Given the description of an element on the screen output the (x, y) to click on. 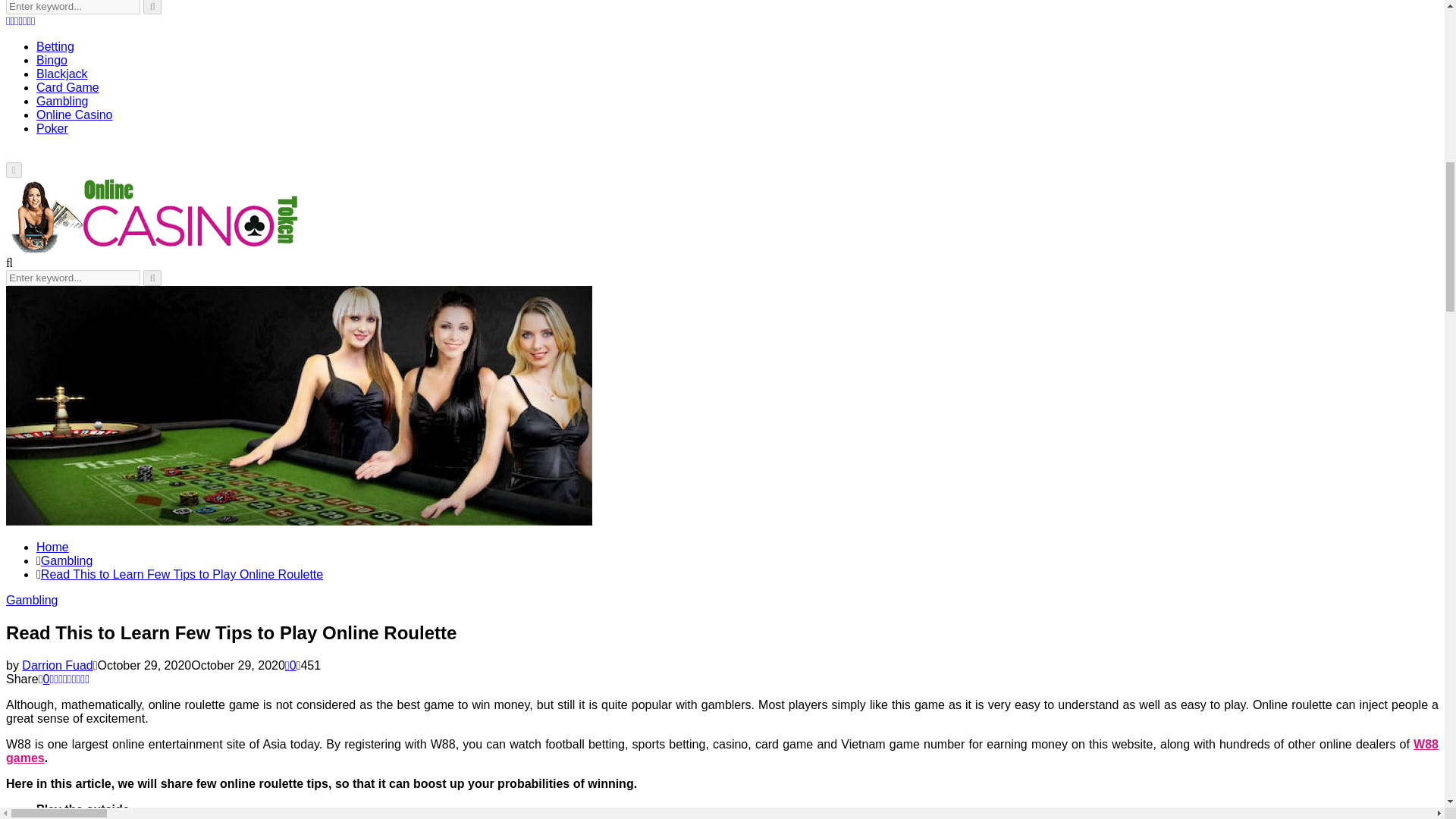
Search (151, 7)
